Given the description of an element on the screen output the (x, y) to click on. 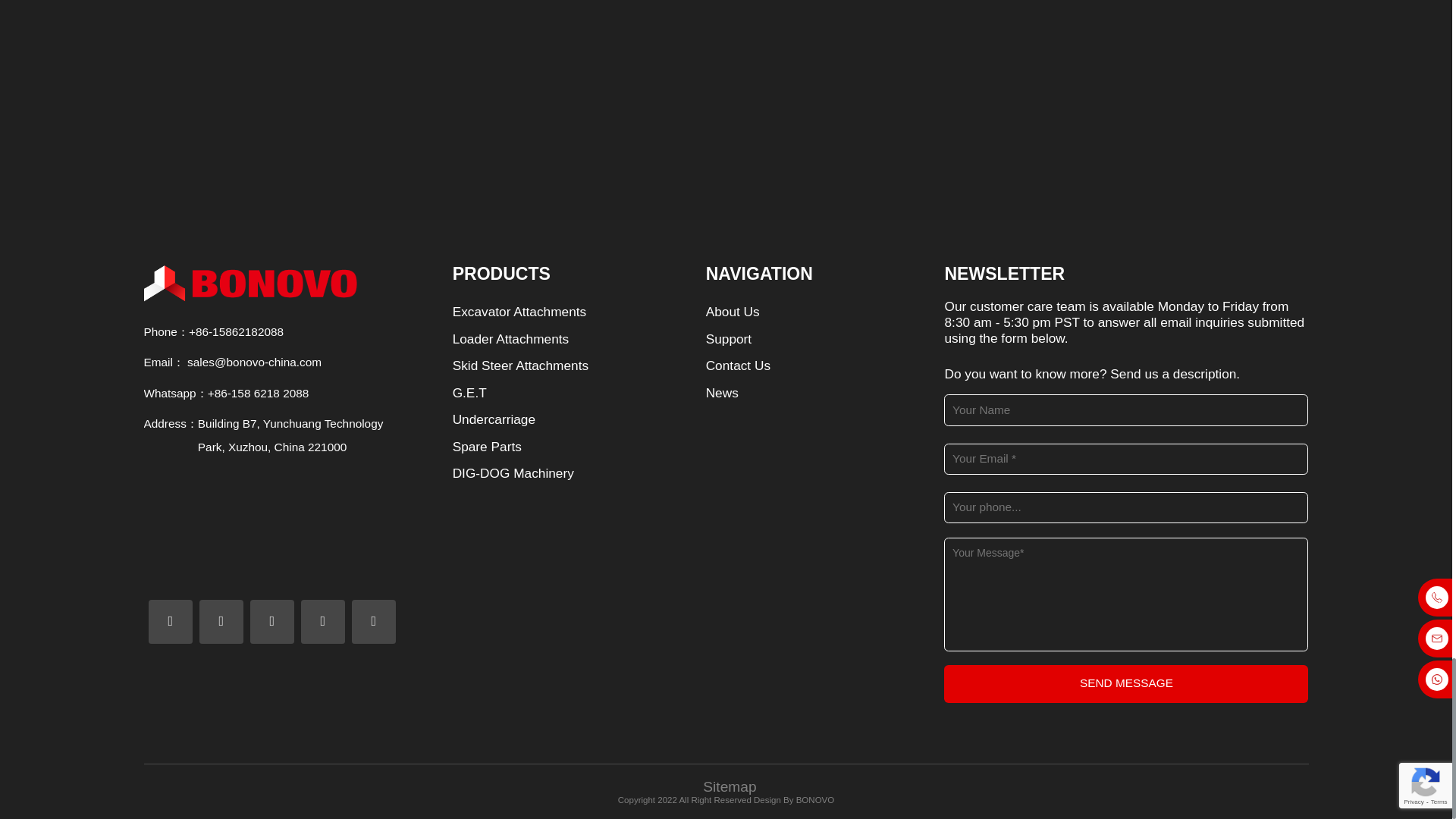
SEND MESSAGE (1125, 683)
